Given the description of an element on the screen output the (x, y) to click on. 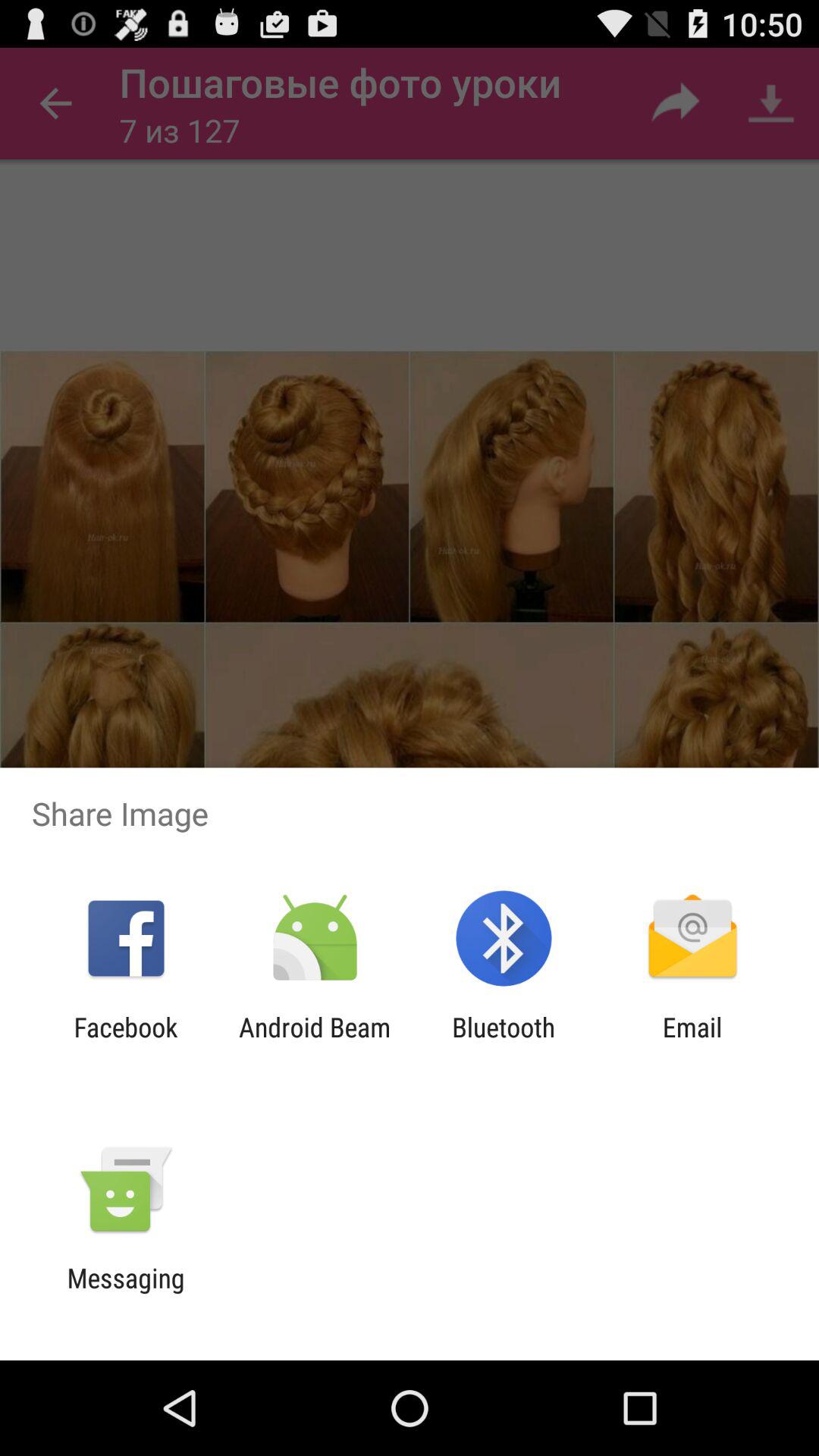
click messaging item (125, 1293)
